Given the description of an element on the screen output the (x, y) to click on. 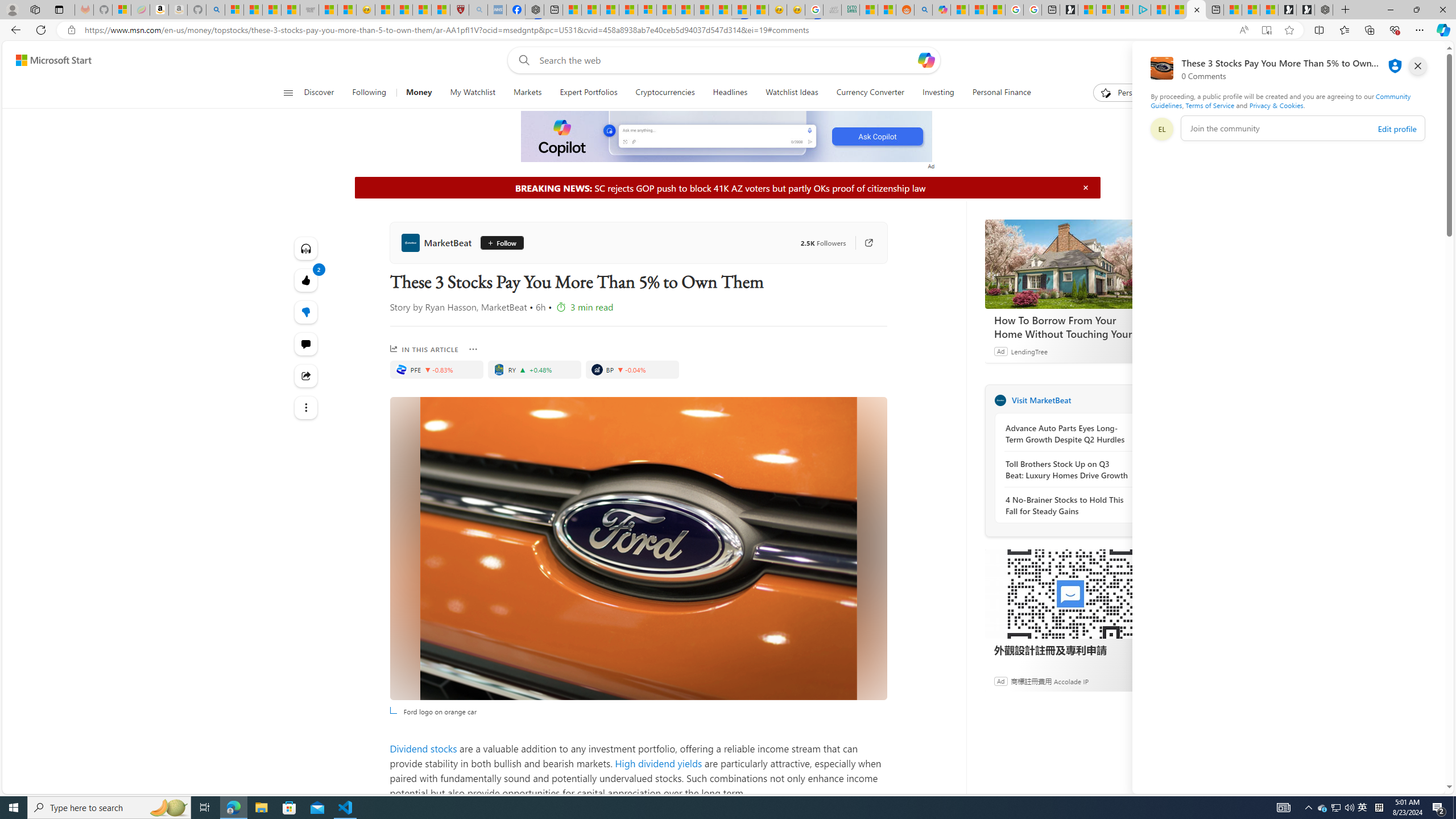
comment-box (1302, 127)
